Given the description of an element on the screen output the (x, y) to click on. 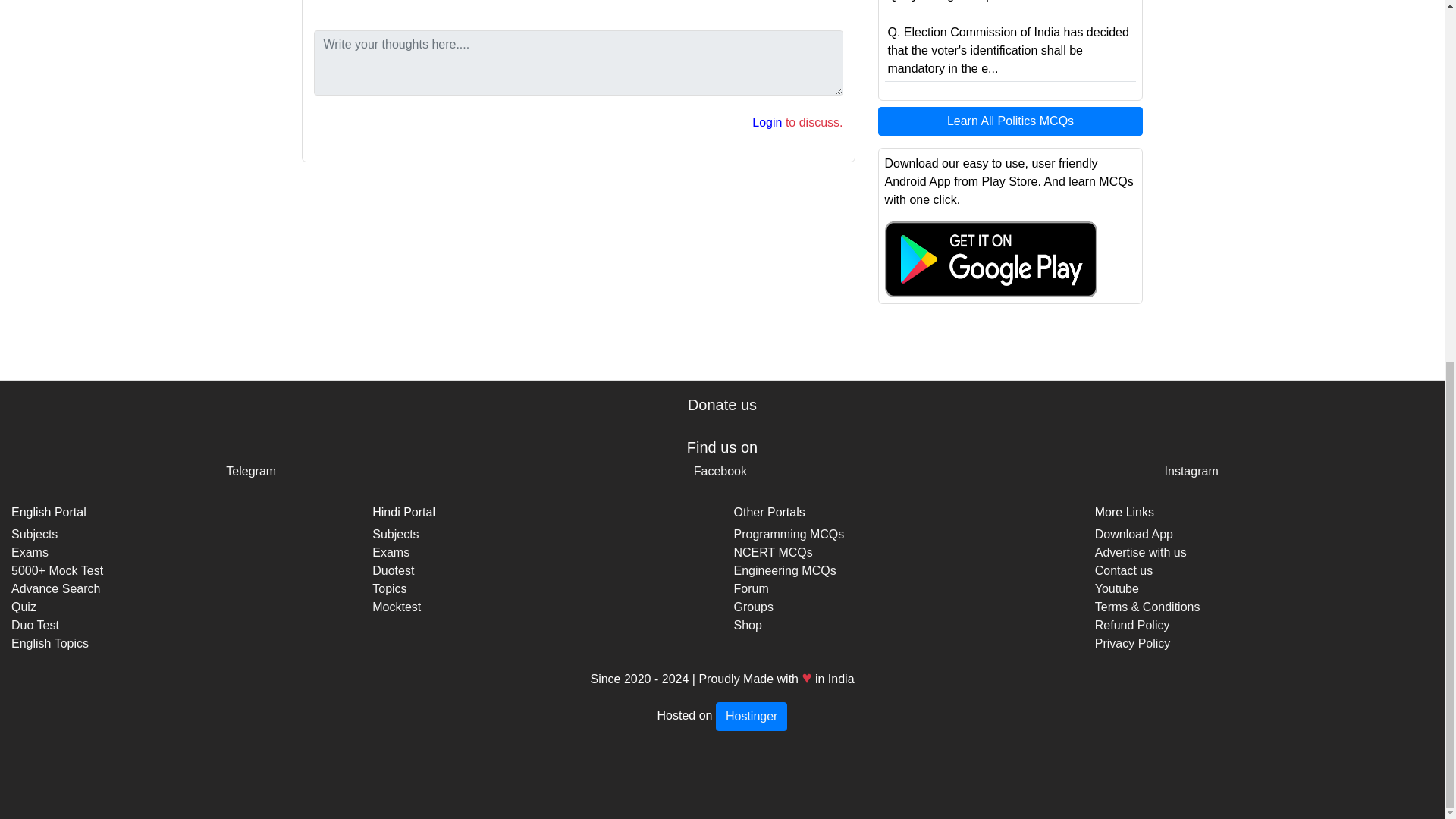
Donate us (722, 404)
Watch our videos on youtube (1116, 588)
Facebook (720, 471)
Subjects (34, 533)
Instagram (1191, 471)
Learn All Politics MCQs (1009, 121)
Telegram (250, 471)
Login (766, 122)
